Given the description of an element on the screen output the (x, y) to click on. 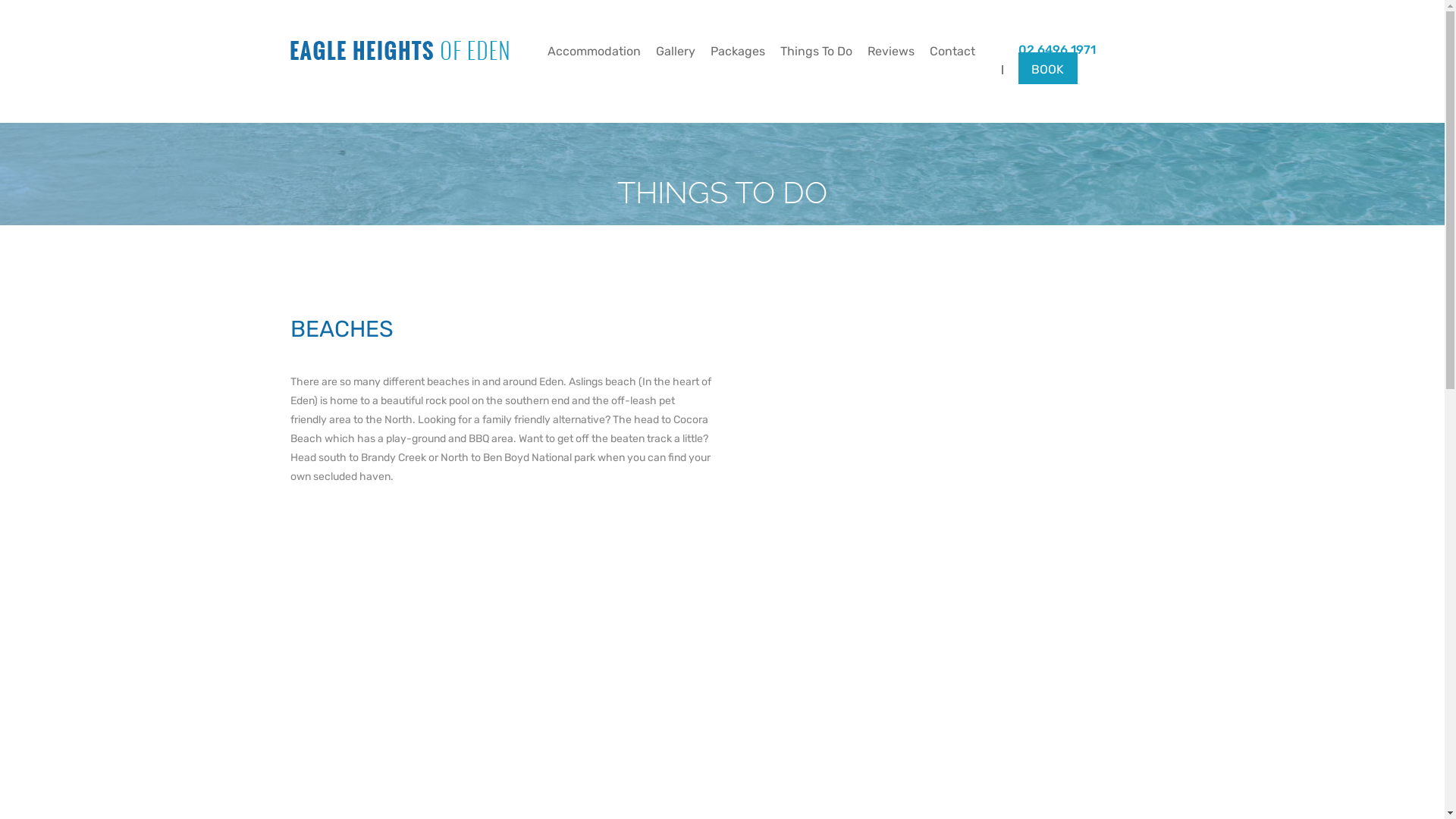
02 6496 1971 Element type: text (1056, 49)
BOOK Element type: text (1046, 68)
Contact Element type: text (952, 51)
Reviews Element type: text (890, 51)
Things To Do Element type: text (815, 51)
Packages Element type: text (736, 51)
Accommodation Element type: text (593, 51)
Gallery Element type: text (674, 51)
